Given the description of an element on the screen output the (x, y) to click on. 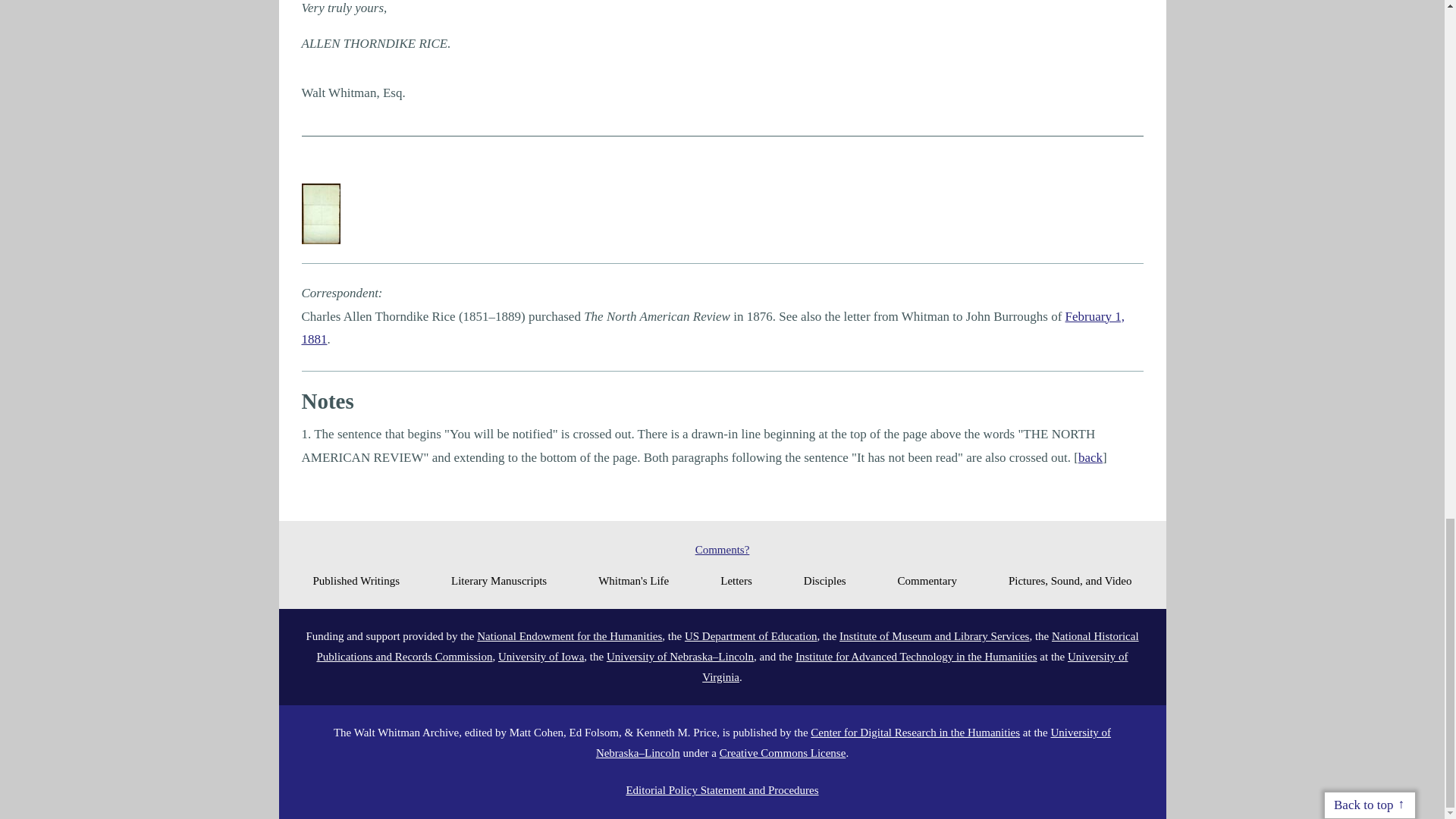
Letters (736, 580)
Literary Manuscripts (499, 580)
back (1090, 457)
Disciples (824, 580)
Pictures, Sound, and Video (1070, 580)
National Historical Publications and Records Commission (726, 645)
US Department of Education (750, 635)
Commentary (927, 580)
University of Virginia (913, 666)
University of Iowa (540, 656)
